Given the description of an element on the screen output the (x, y) to click on. 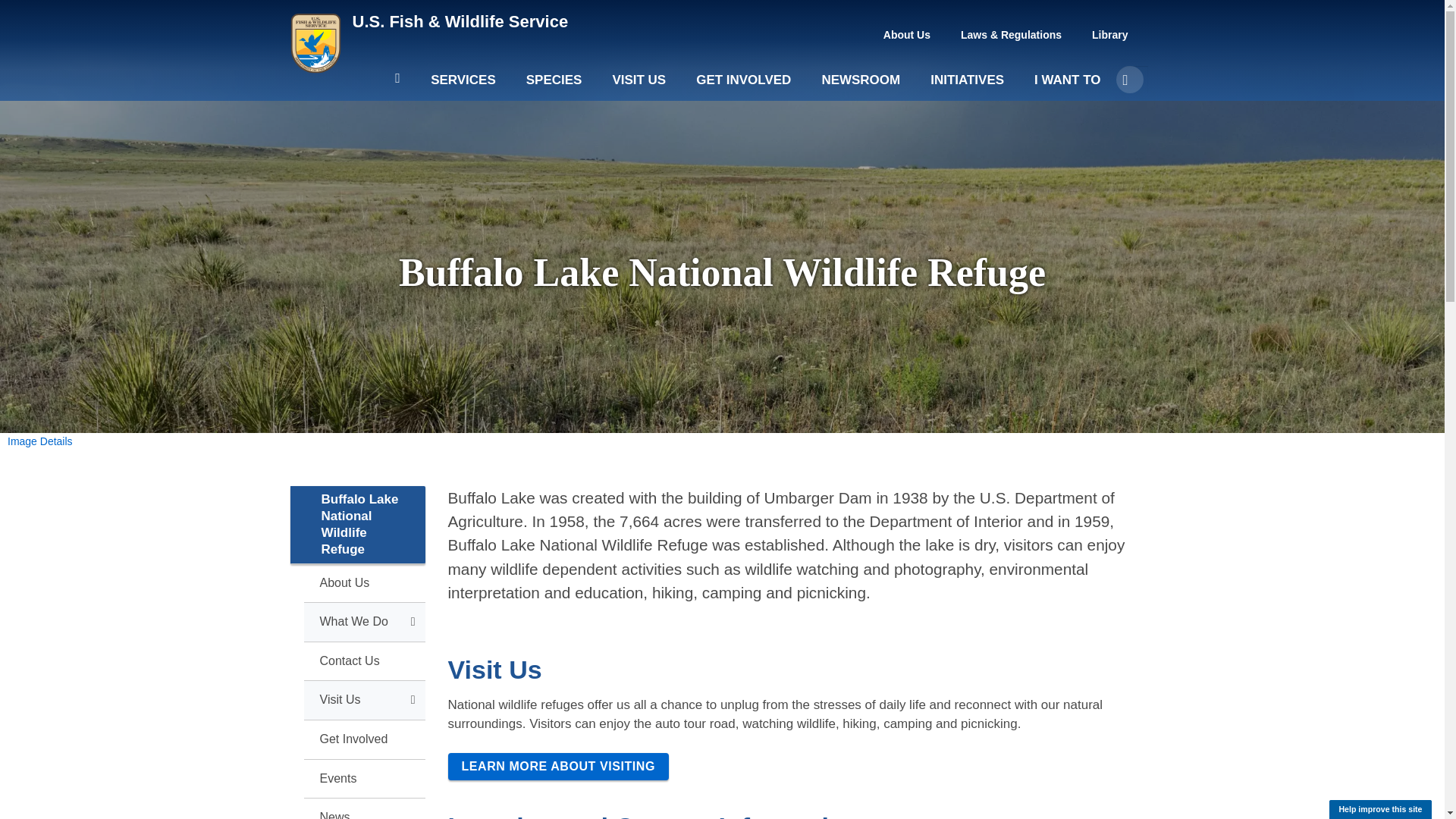
Library (1109, 34)
About Us (906, 34)
SERVICES (463, 86)
Access services provided by FWS (463, 86)
FWS Home (459, 21)
